Given the description of an element on the screen output the (x, y) to click on. 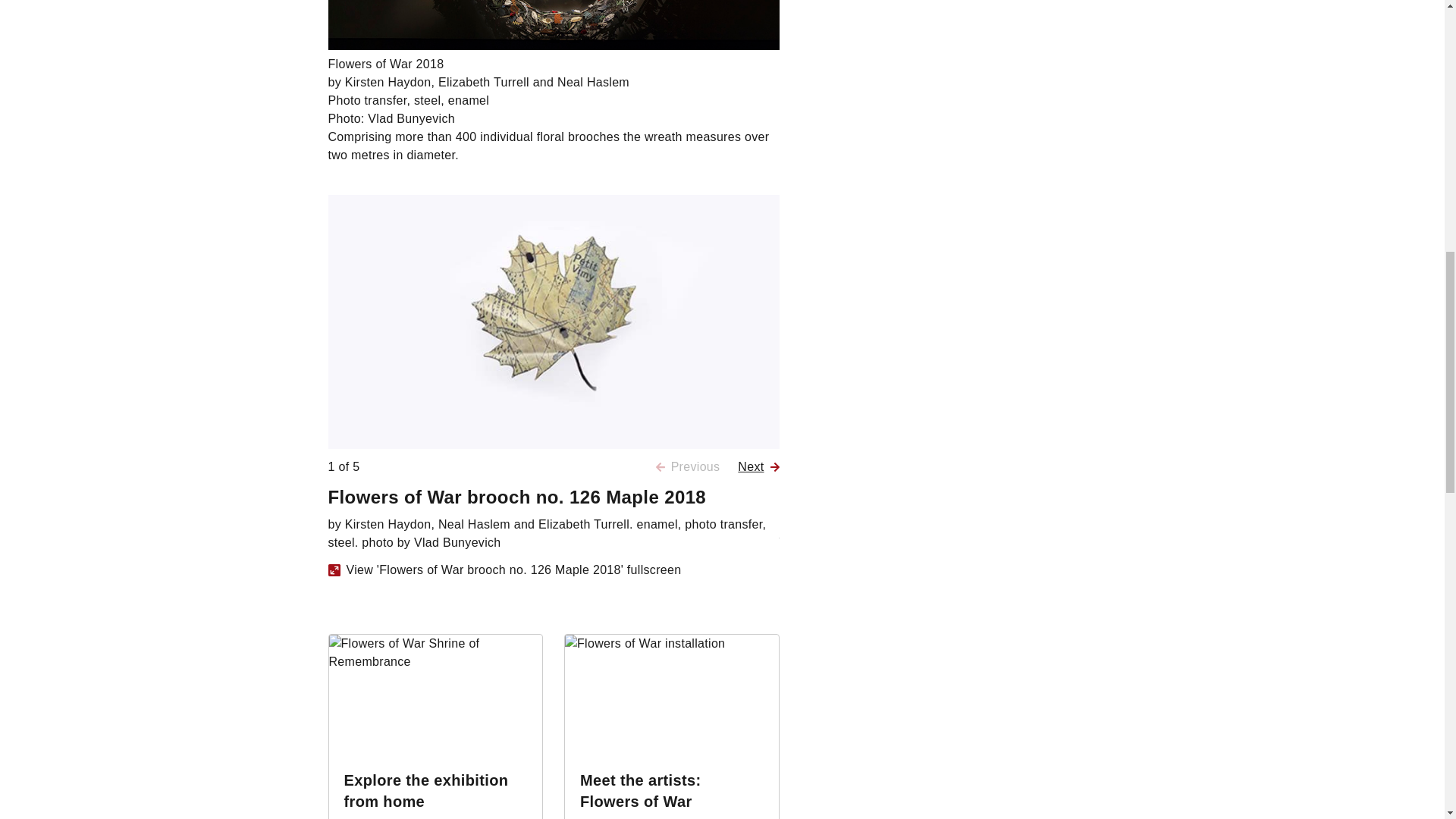
Explore the exhibition from home (425, 790)
Meet the artists: Flowers of War (640, 790)
Previous (688, 466)
View 'Flowers of War brooch no. 126 Maple 2018' fullscreen (504, 570)
Next (758, 466)
